Given the description of an element on the screen output the (x, y) to click on. 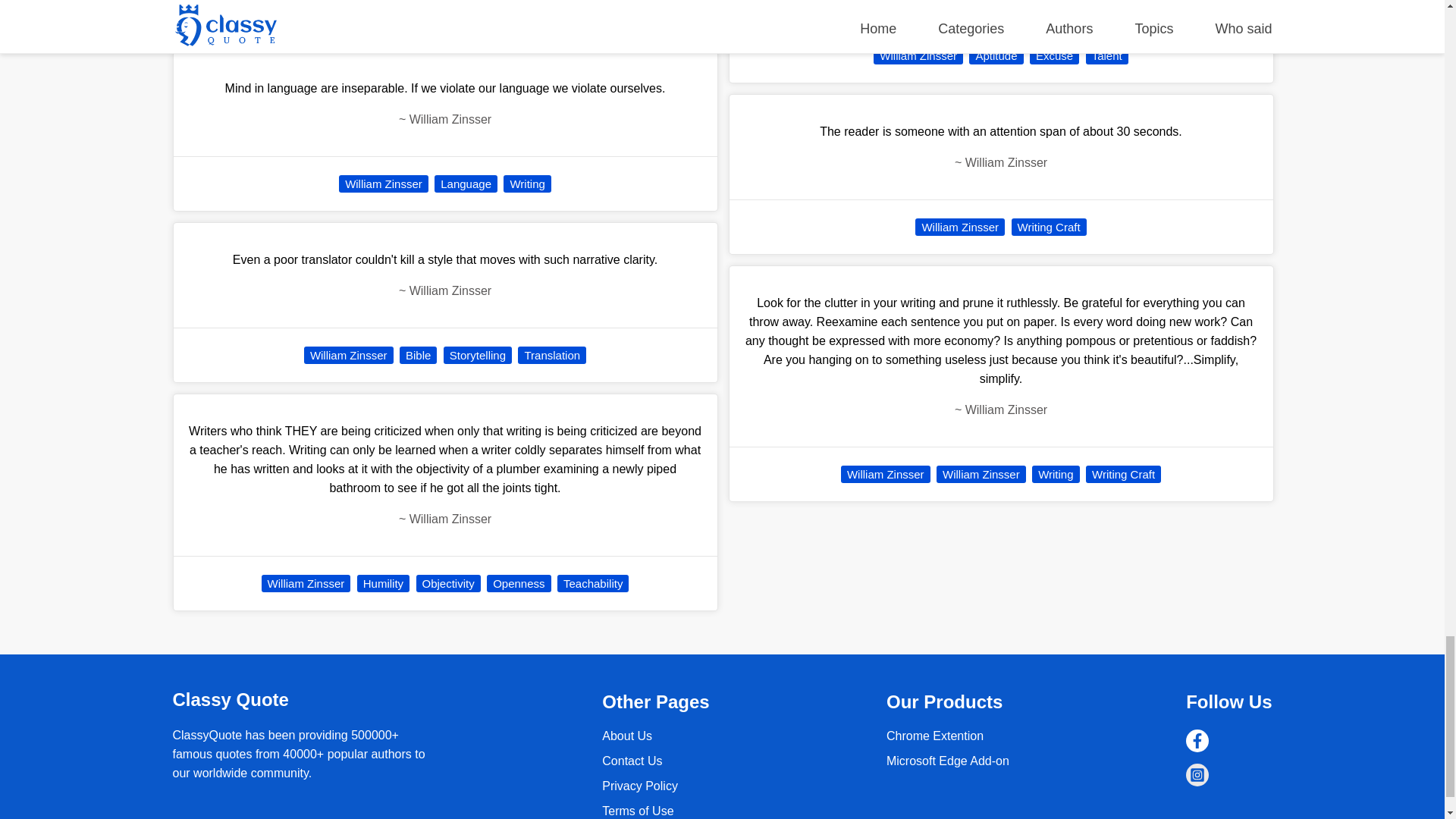
Chrome Extention (947, 760)
Chrome Extention (935, 735)
Facebook (1197, 740)
Instagram coming soon (1197, 774)
